Given the description of an element on the screen output the (x, y) to click on. 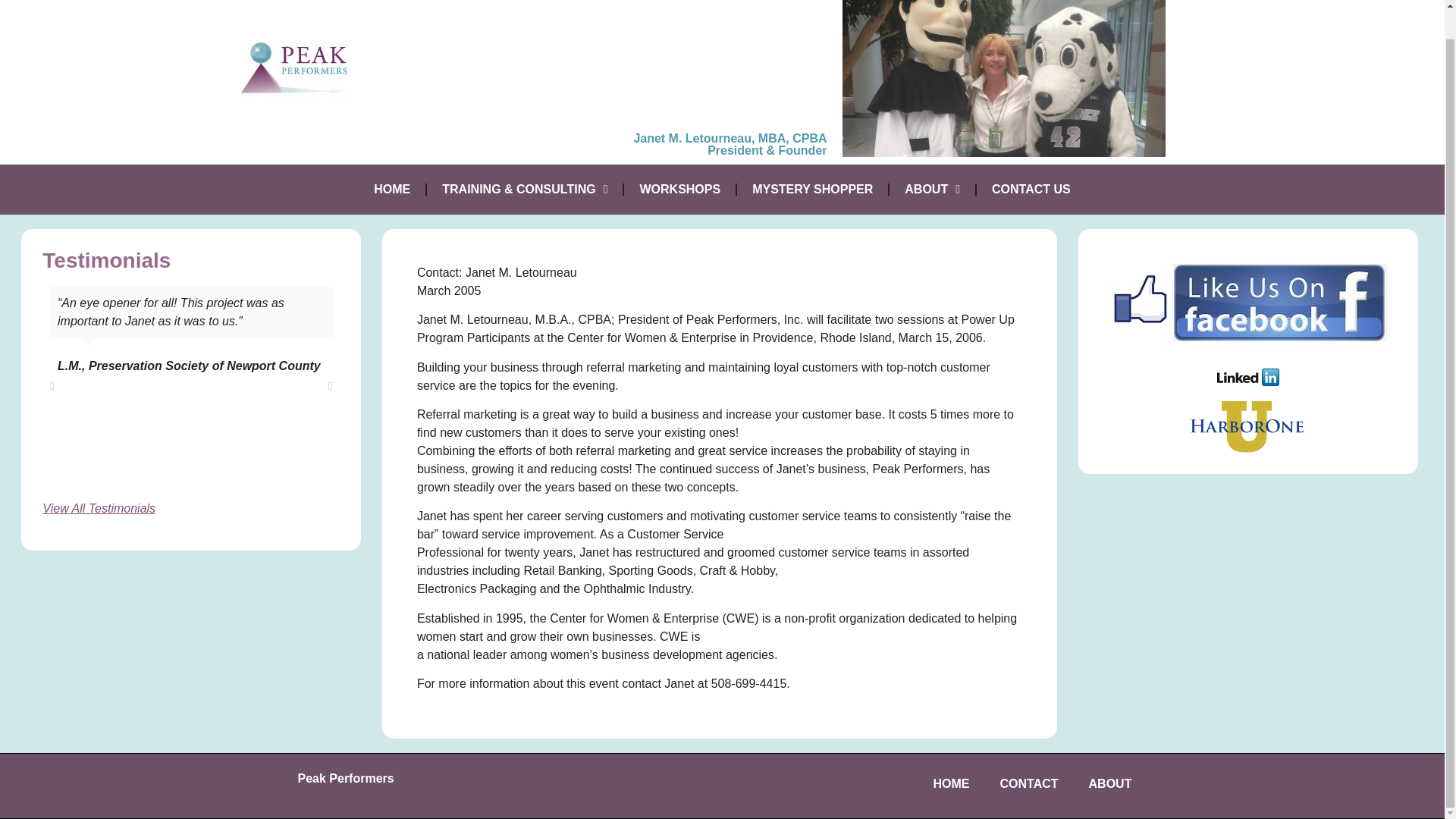
WORKSHOPS (679, 189)
CONTACT US (1031, 189)
ABOUT (932, 189)
ABOUT (1110, 783)
CONTACT (1028, 783)
View All Testimonials (98, 508)
HOME (391, 189)
MYSTERY SHOPPER (812, 189)
HOME (950, 783)
